Given the description of an element on the screen output the (x, y) to click on. 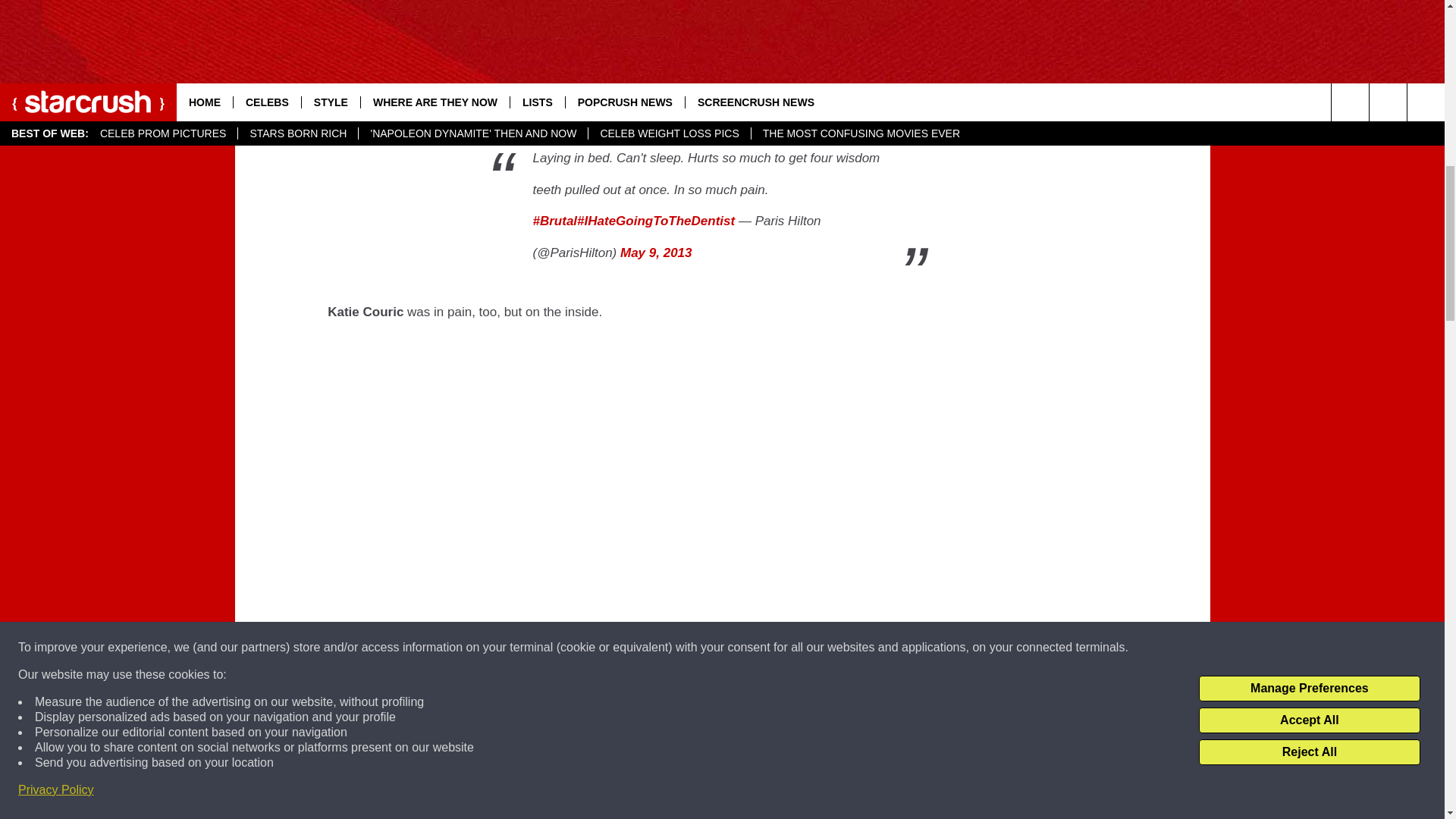
May 9, 2013 (656, 252)
